Given the description of an element on the screen output the (x, y) to click on. 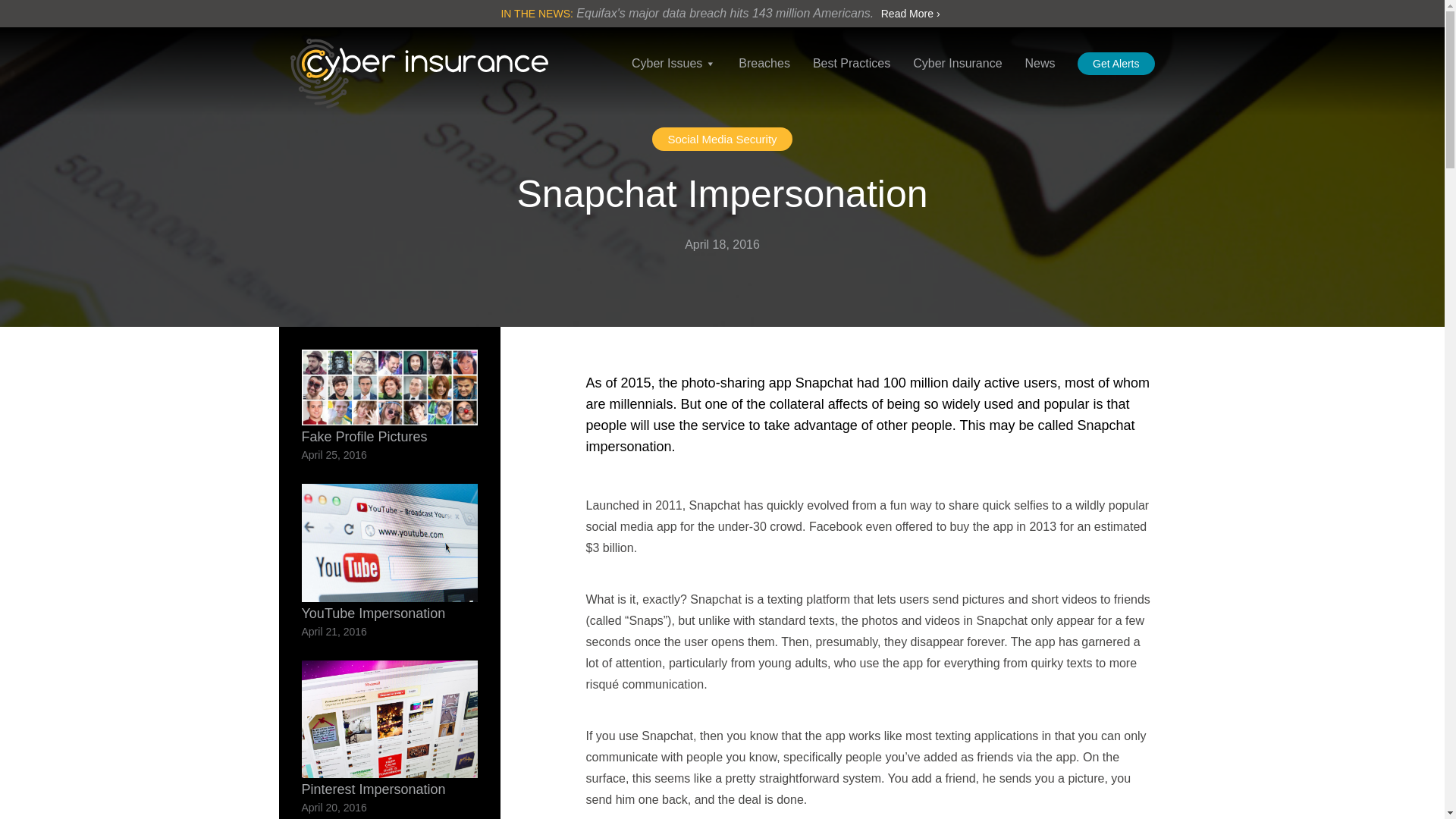
Breaches (764, 79)
YouTube Impersonation (390, 552)
Fake Profile Pictures (390, 397)
Social Media Security (722, 138)
Cyber Issues (673, 79)
Fake Profile Pictures (390, 397)
Pinterest Impersonation (390, 728)
Pinterest Impersonation (390, 728)
YouTube Impersonation (390, 552)
Best Practices (851, 79)
Get Alerts (1115, 63)
Cyber Insurance (418, 73)
YouTube Impersonation (390, 542)
News (1040, 79)
Get Notified When Data Breaches Happen (1115, 63)
